Given the description of an element on the screen output the (x, y) to click on. 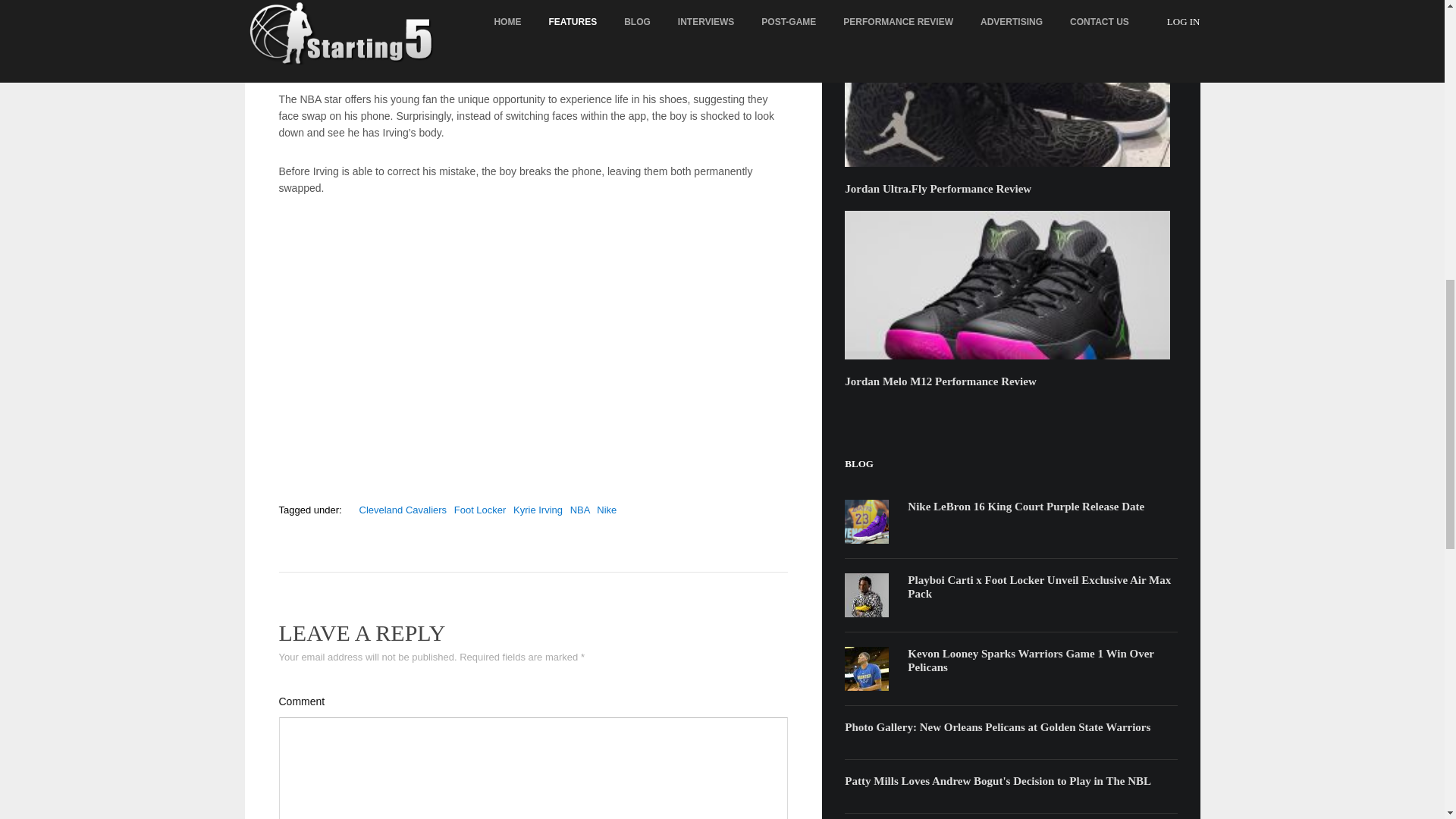
Jordan Ultra.Fly Performance Review (937, 188)
Playboi Carti x Foot Locker Unveil Exclusive Air Max Pack (1038, 586)
Kevon Looney Sparks Warriors Game 1 Win Over Pelicans (1030, 660)
Jordan Ultra.Fly Performance Review (1006, 92)
Jordan Melo M12 Performance Review (939, 381)
Nike LeBron 16 King Court Purple Release Date (866, 521)
Foot Locker (480, 509)
Nike (605, 509)
Jordan Melo M12 Performance Review (1006, 284)
Cleveland Cavaliers (402, 509)
Jordan Ultra.Fly Performance Review (937, 188)
NBA (579, 509)
Nike LeBron 16 King Court Purple Release Date (1025, 506)
Playboi Carti x Foot Locker Unveil Exclusive Air Max Pack (866, 595)
Nike LeBron 16 King Court Purple Release Date (1025, 506)
